Given the description of an element on the screen output the (x, y) to click on. 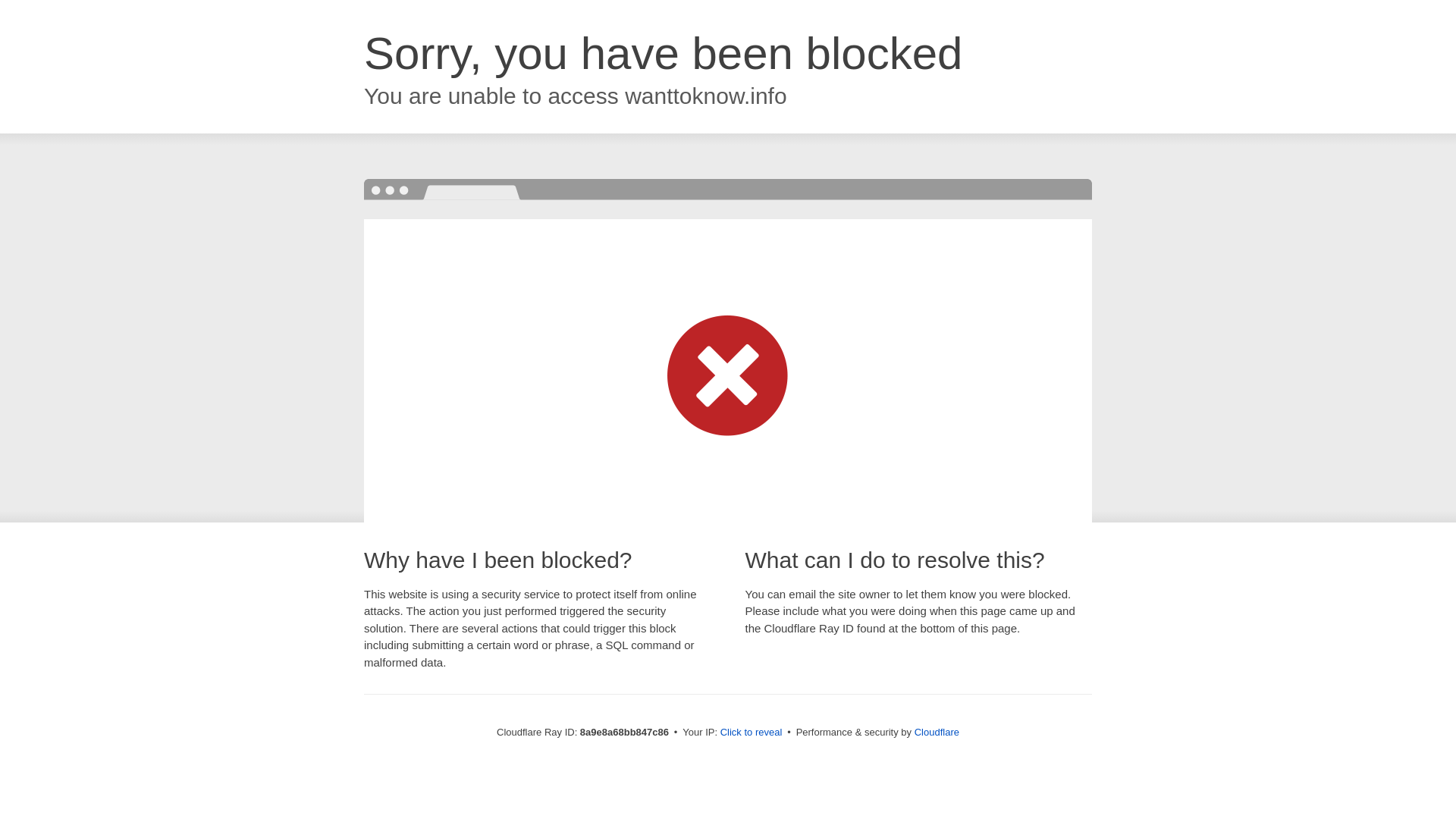
Click to reveal (751, 732)
Cloudflare (936, 731)
